Given the description of an element on the screen output the (x, y) to click on. 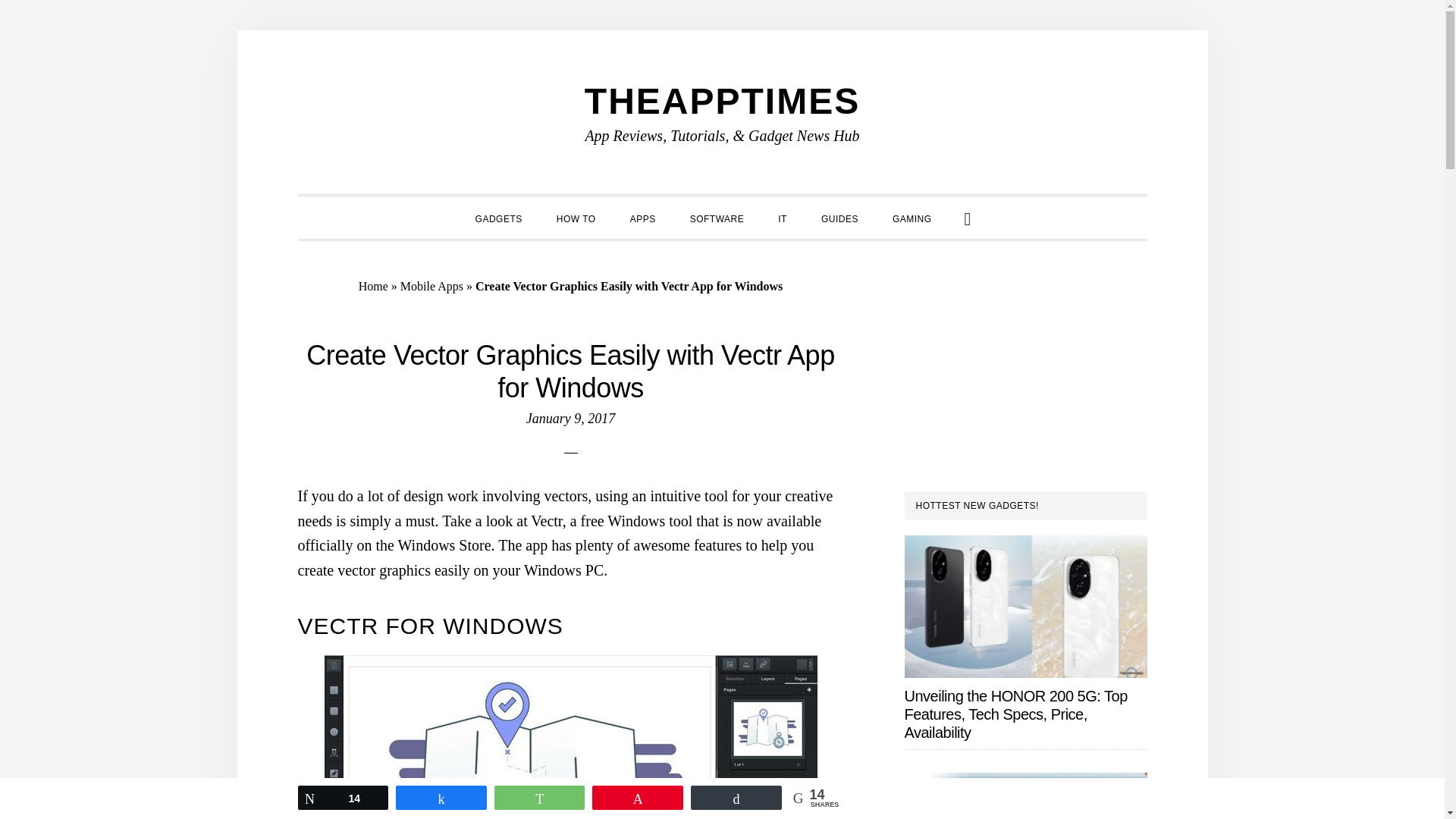
GAMING (912, 216)
GADGETS (498, 216)
APPS (642, 216)
GUIDES (839, 216)
IT (782, 216)
SOFTWARE (717, 216)
THEAPPTIMES (722, 101)
HOW TO (576, 216)
Home (373, 285)
Mobile Apps (431, 285)
